Given the description of an element on the screen output the (x, y) to click on. 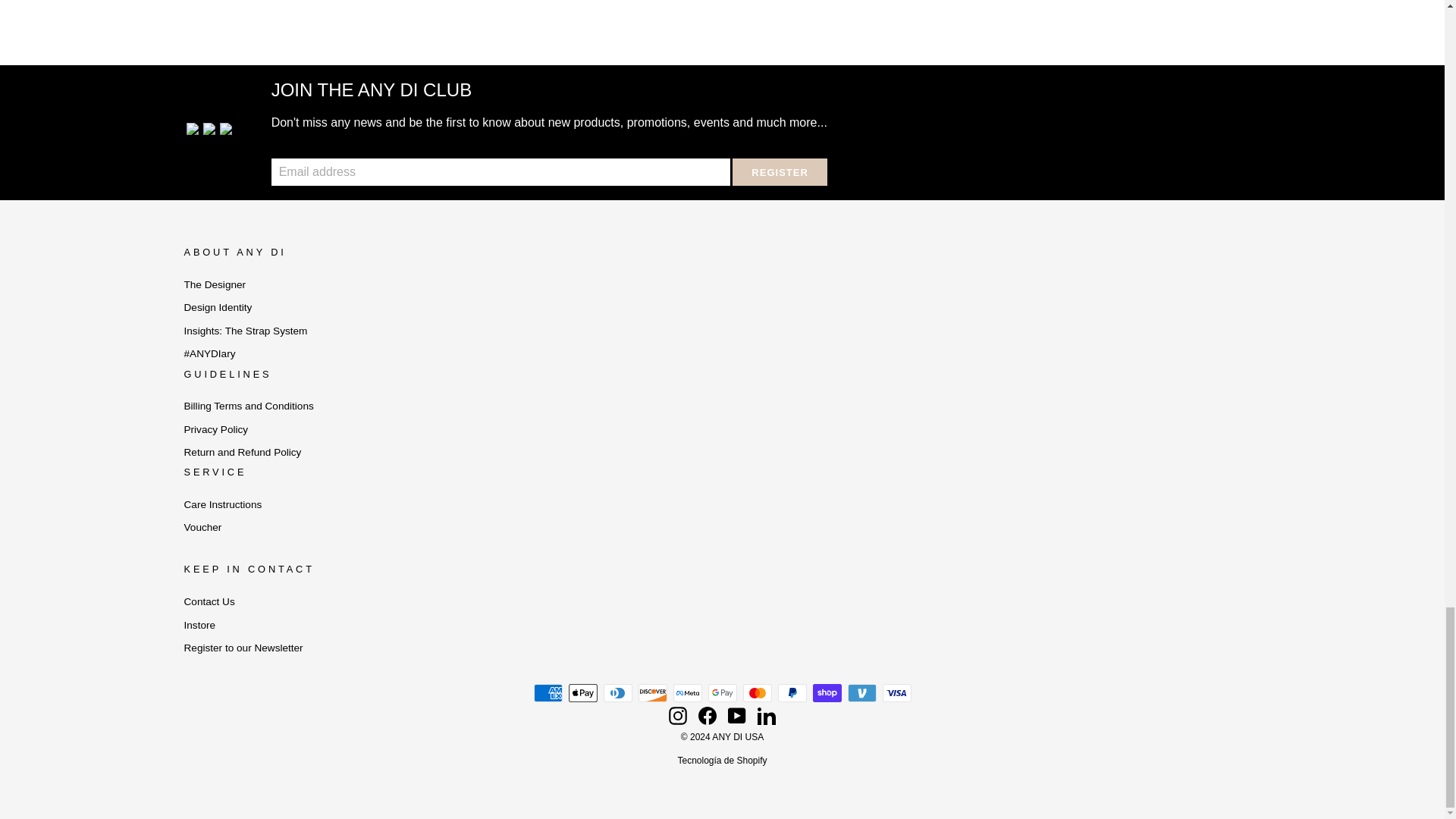
Mastercard (756, 692)
American Express (548, 692)
ANY DI USA en LinkedIn (766, 715)
ANY DI USA en YouTube (736, 715)
Visa (896, 692)
Meta Pay (686, 692)
Diners Club (617, 692)
Venmo (861, 692)
PayPal (791, 692)
ANY DI USA en Facebook (707, 715)
